Given the description of an element on the screen output the (x, y) to click on. 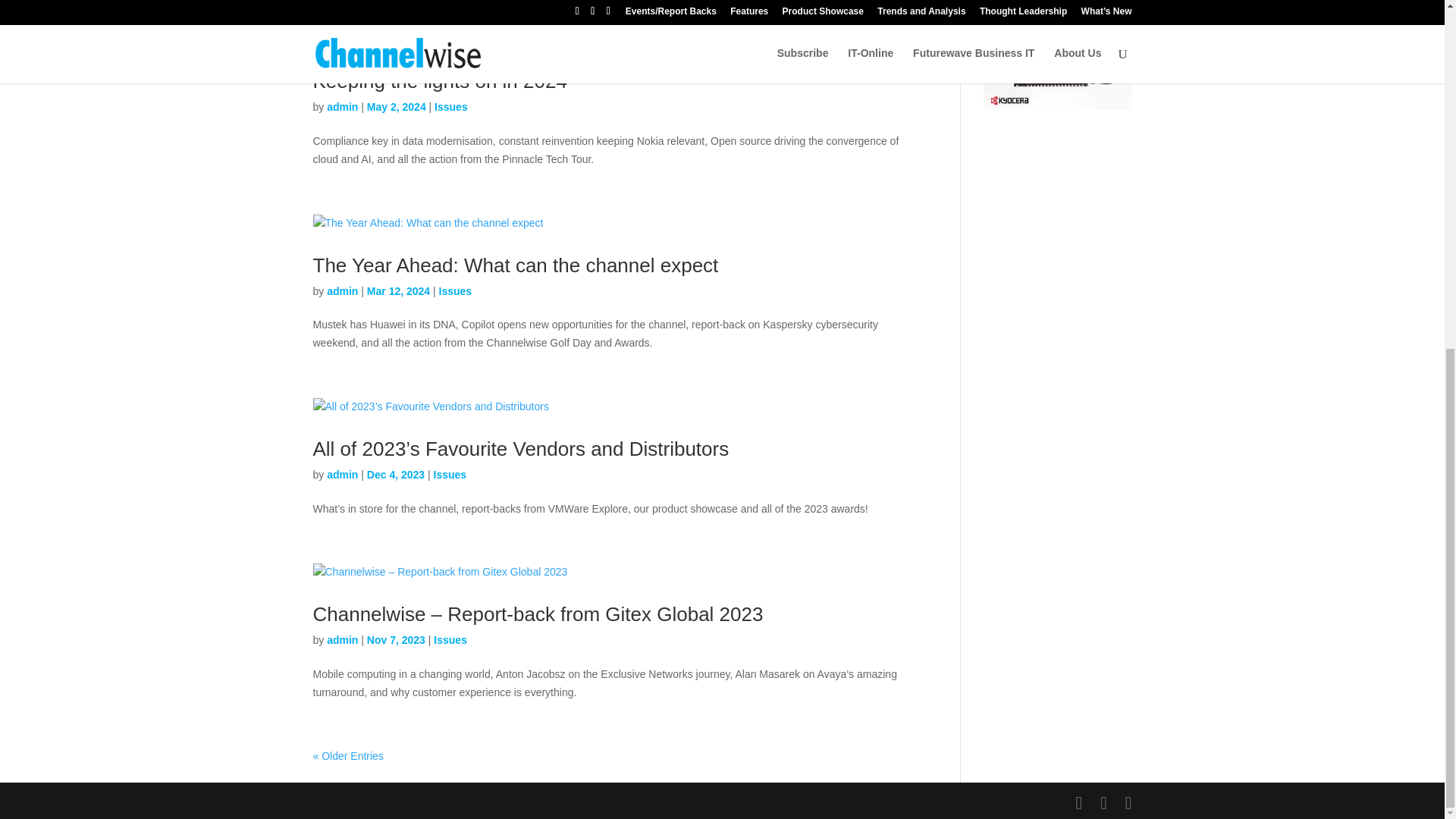
Posts by admin (342, 291)
Posts by admin (342, 474)
admin (342, 291)
Keeping the lights on in 2024 (439, 80)
admin (342, 639)
Issues (450, 639)
The Year Ahead: What can the channel expect (515, 264)
admin (342, 106)
Issues (450, 106)
Issues (450, 474)
